Given the description of an element on the screen output the (x, y) to click on. 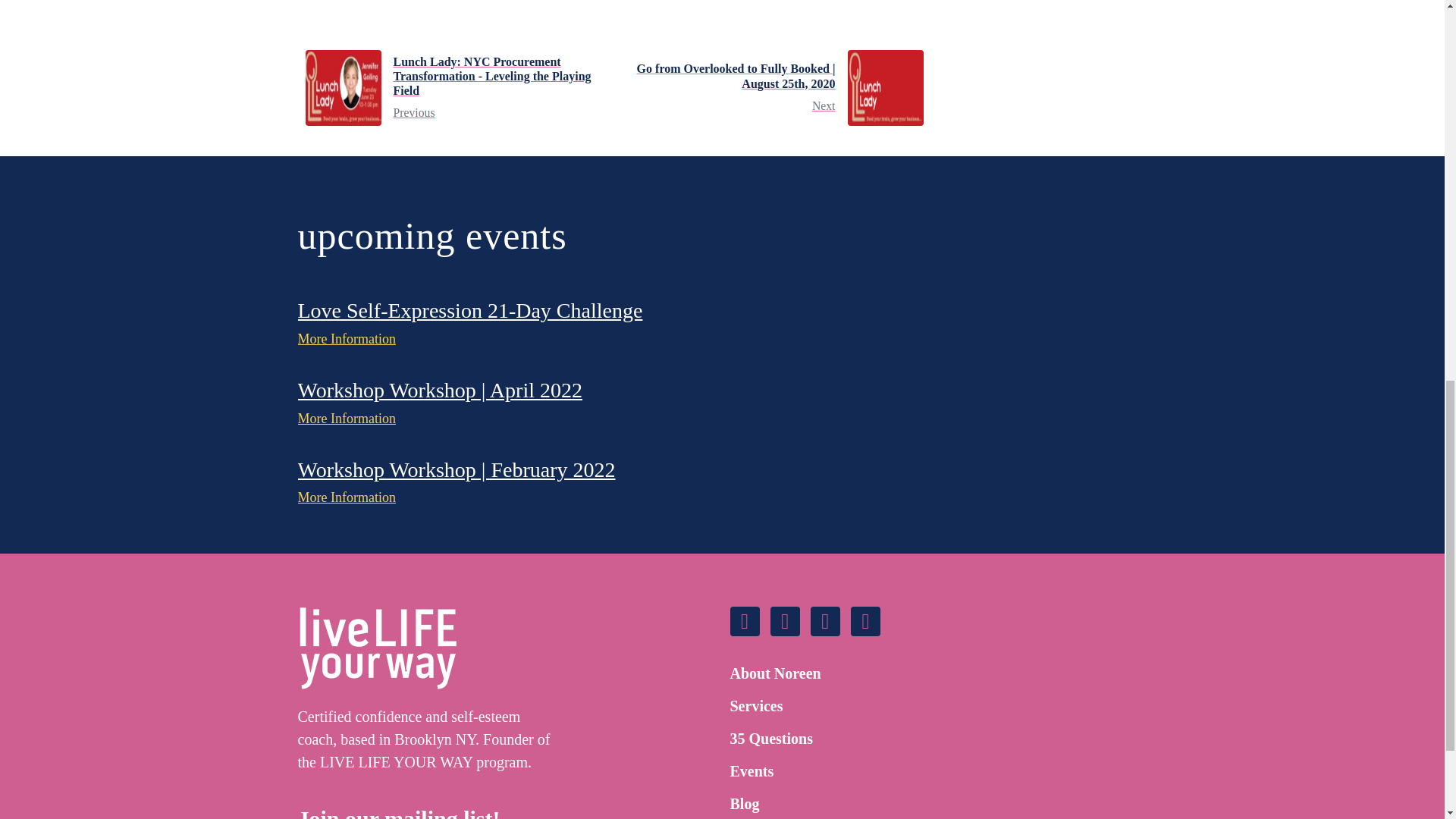
More Information (345, 339)
Love Self-Expression 21-Day Challenge (469, 310)
